Given the description of an element on the screen output the (x, y) to click on. 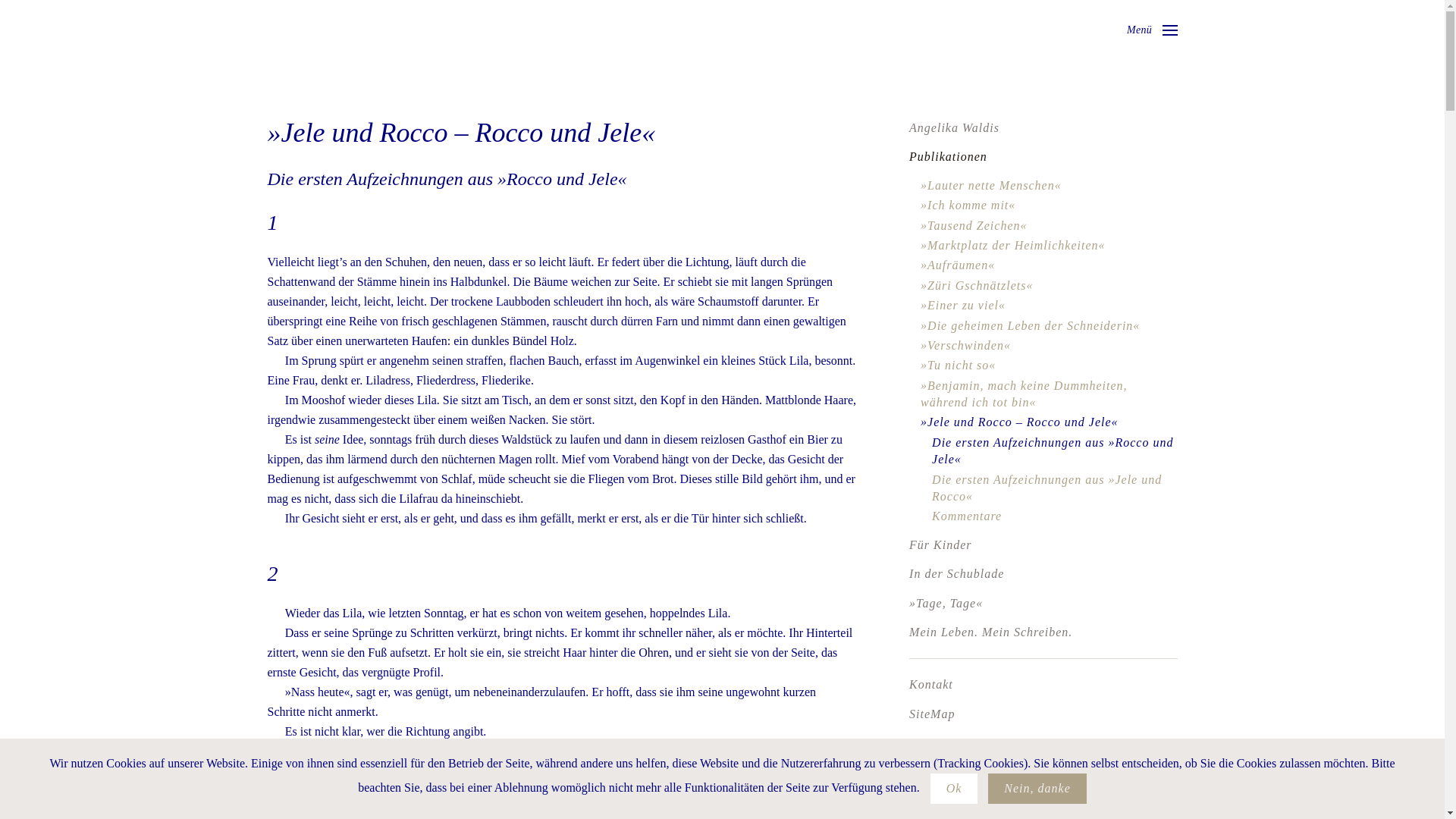
Kontakt Element type: text (1042, 684)
Ok Element type: text (954, 788)
Angelika Waldis Element type: text (1042, 127)
Kommentare Element type: text (1053, 516)
SiteMap Element type: text (1042, 713)
In der Schublade Element type: text (1042, 573)
Nein, danke Element type: text (1036, 788)
Mein Leben. Mein Schreiben. Element type: text (1042, 632)
Publikationen Element type: text (1042, 156)
